Given the description of an element on the screen output the (x, y) to click on. 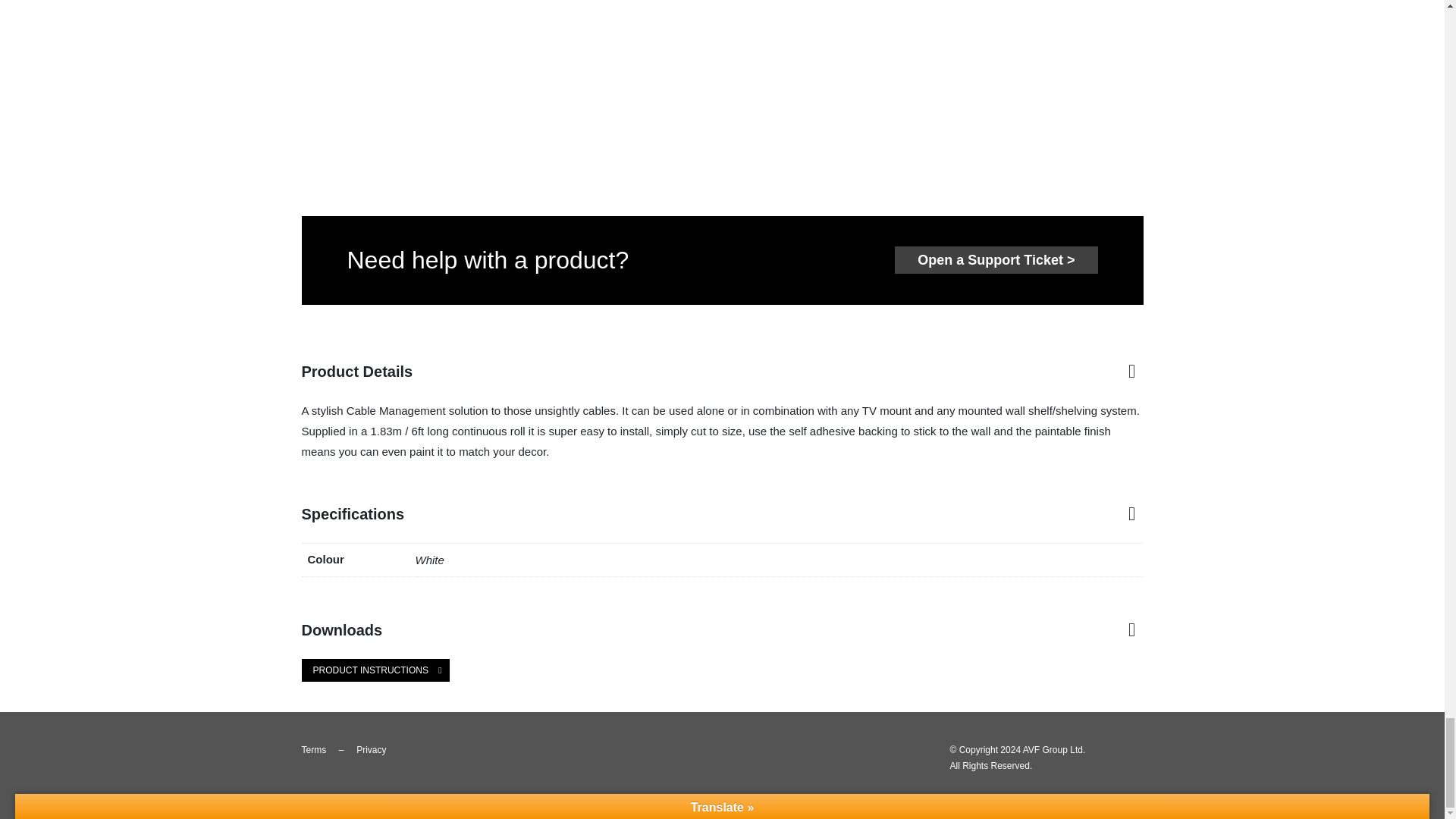
Terms (313, 749)
PRODUCT INSTRUCTIONS (375, 670)
Privacy (370, 749)
